Given the description of an element on the screen output the (x, y) to click on. 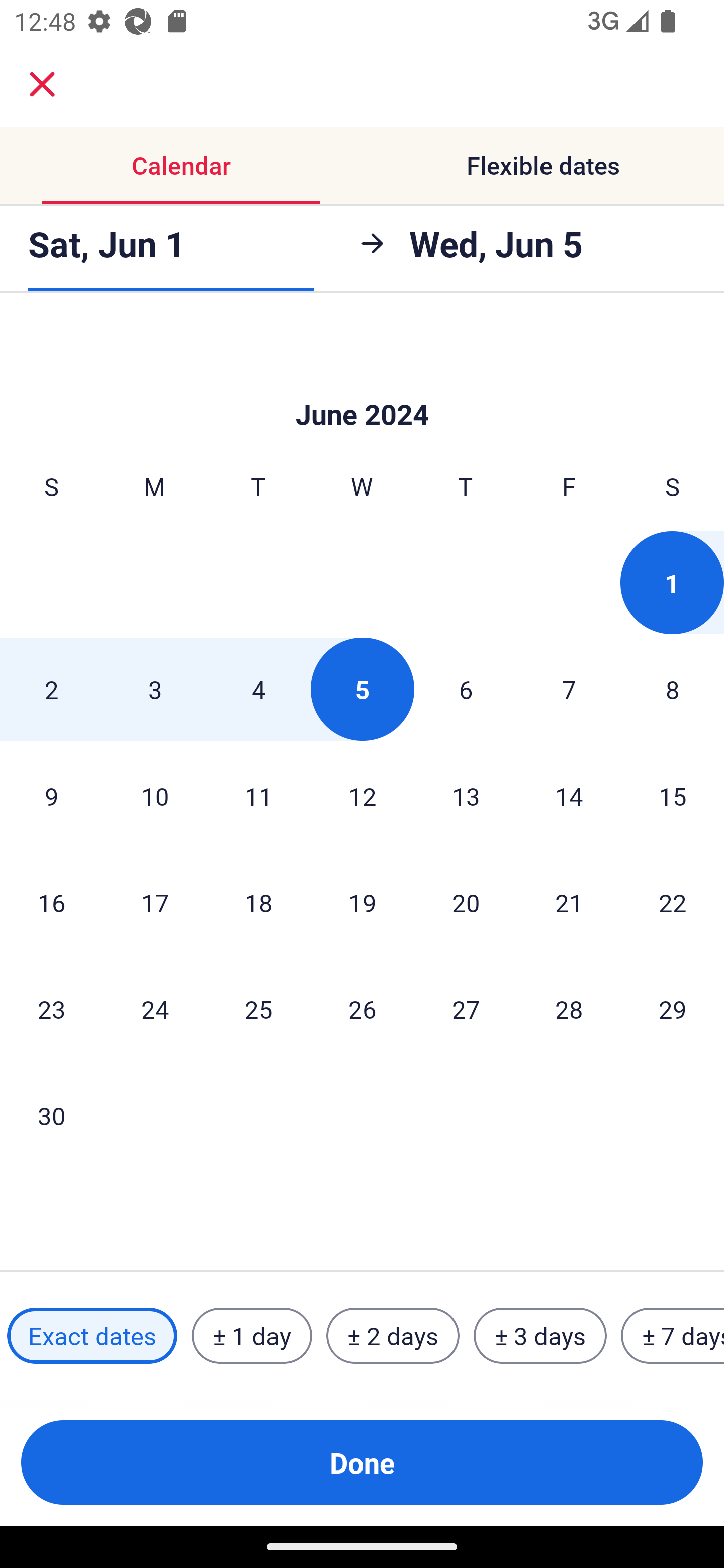
close. (42, 84)
Flexible dates (542, 164)
Skip to Done (362, 383)
6 Thursday, June 6, 2024 (465, 689)
7 Friday, June 7, 2024 (569, 689)
8 Saturday, June 8, 2024 (672, 689)
9 Sunday, June 9, 2024 (51, 795)
10 Monday, June 10, 2024 (155, 795)
11 Tuesday, June 11, 2024 (258, 795)
12 Wednesday, June 12, 2024 (362, 795)
13 Thursday, June 13, 2024 (465, 795)
14 Friday, June 14, 2024 (569, 795)
15 Saturday, June 15, 2024 (672, 795)
16 Sunday, June 16, 2024 (51, 902)
17 Monday, June 17, 2024 (155, 902)
18 Tuesday, June 18, 2024 (258, 902)
19 Wednesday, June 19, 2024 (362, 902)
20 Thursday, June 20, 2024 (465, 902)
21 Friday, June 21, 2024 (569, 902)
22 Saturday, June 22, 2024 (672, 902)
23 Sunday, June 23, 2024 (51, 1008)
24 Monday, June 24, 2024 (155, 1008)
25 Tuesday, June 25, 2024 (258, 1008)
26 Wednesday, June 26, 2024 (362, 1008)
27 Thursday, June 27, 2024 (465, 1008)
28 Friday, June 28, 2024 (569, 1008)
29 Saturday, June 29, 2024 (672, 1008)
30 Sunday, June 30, 2024 (51, 1115)
Exact dates (92, 1335)
± 1 day (251, 1335)
± 2 days (392, 1335)
± 3 days (539, 1335)
± 7 days (672, 1335)
Done (361, 1462)
